Given the description of an element on the screen output the (x, y) to click on. 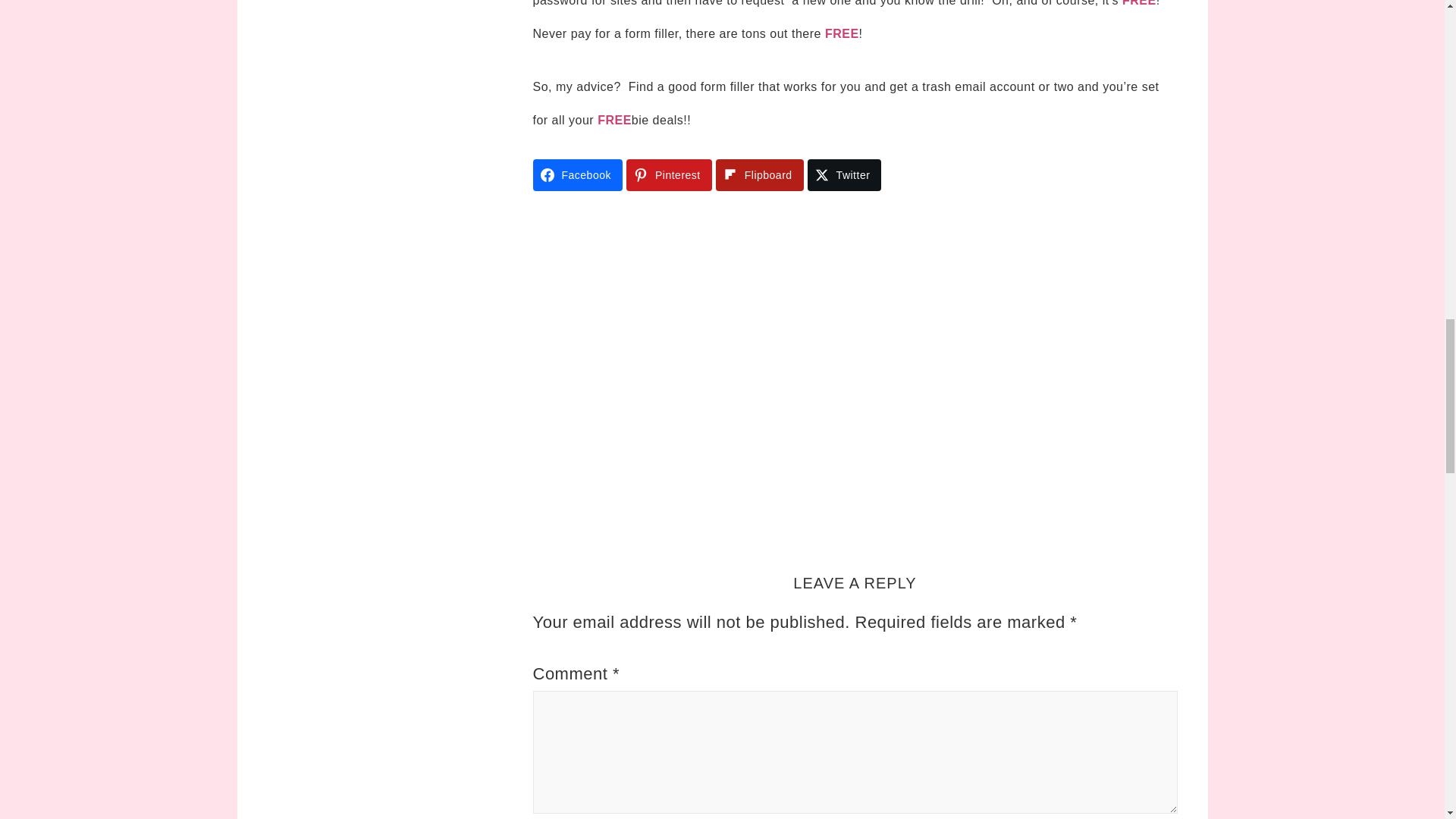
Twitter (845, 174)
Facebook (576, 174)
Pinterest (668, 174)
Share on Pinterest (668, 174)
Share on Facebook (576, 174)
Flipboard (759, 174)
Share on Flipboard (759, 174)
Share on Twitter (845, 174)
